Given the description of an element on the screen output the (x, y) to click on. 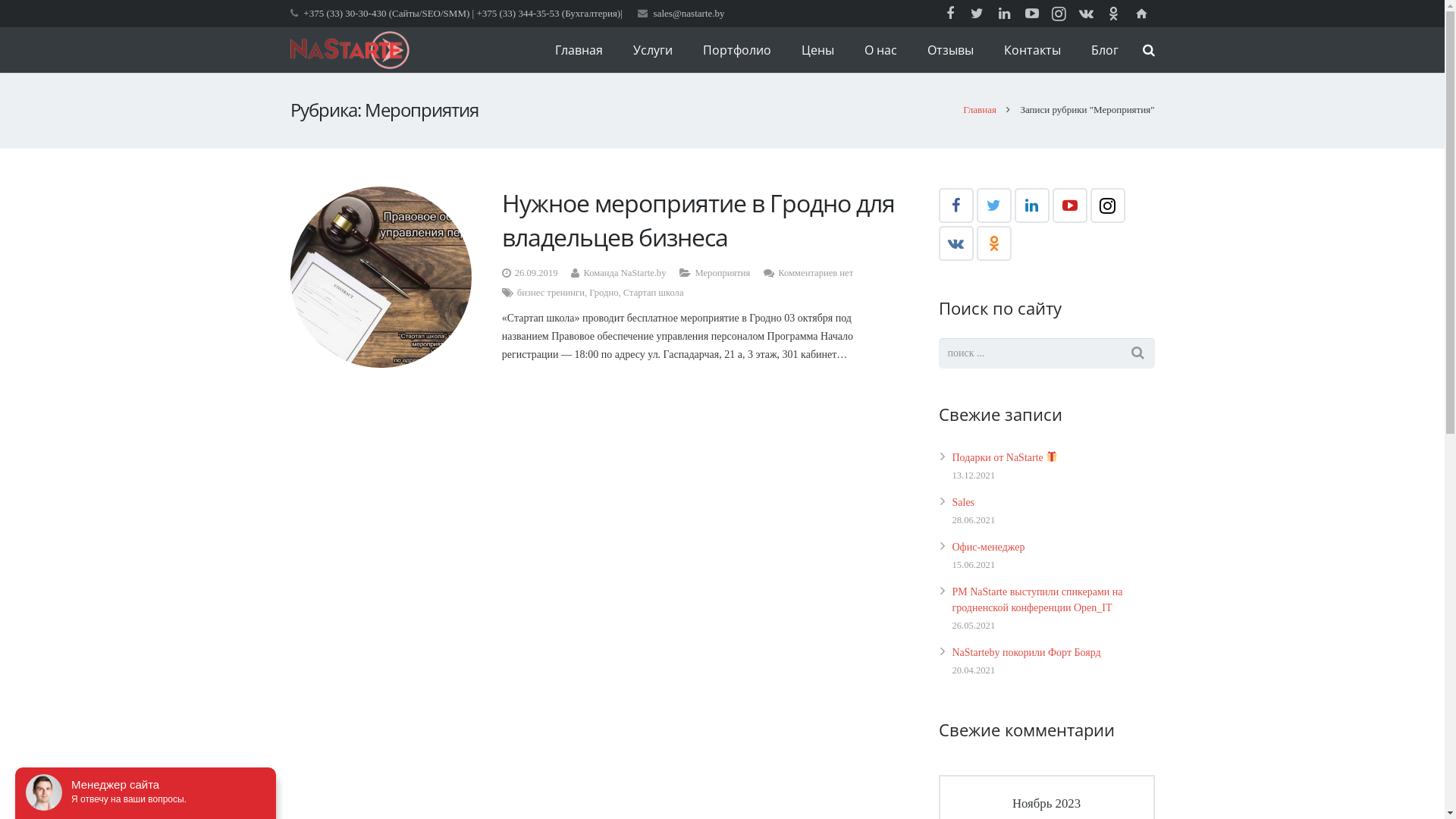
sales@nastarte.by Element type: text (688, 12)
Sales Element type: text (963, 502)
